Given the description of an element on the screen output the (x, y) to click on. 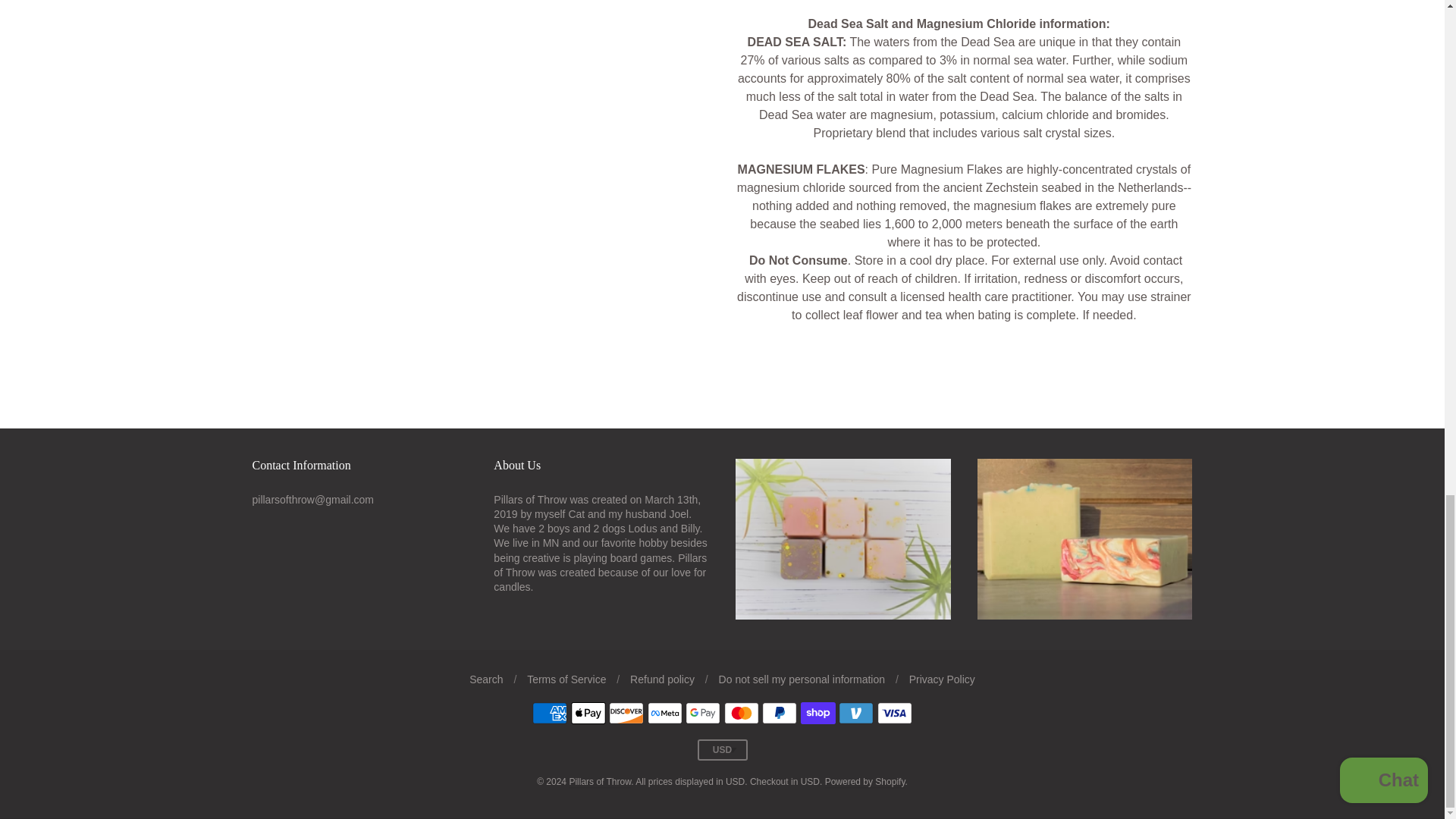
Apple Pay (587, 712)
Meta Pay (664, 712)
Shop Pay (817, 712)
PayPal (778, 712)
Venmo (855, 712)
Terms of Service (566, 679)
Mastercard (740, 712)
Refund policy (662, 679)
Google Pay (702, 712)
Search (485, 679)
